Given the description of an element on the screen output the (x, y) to click on. 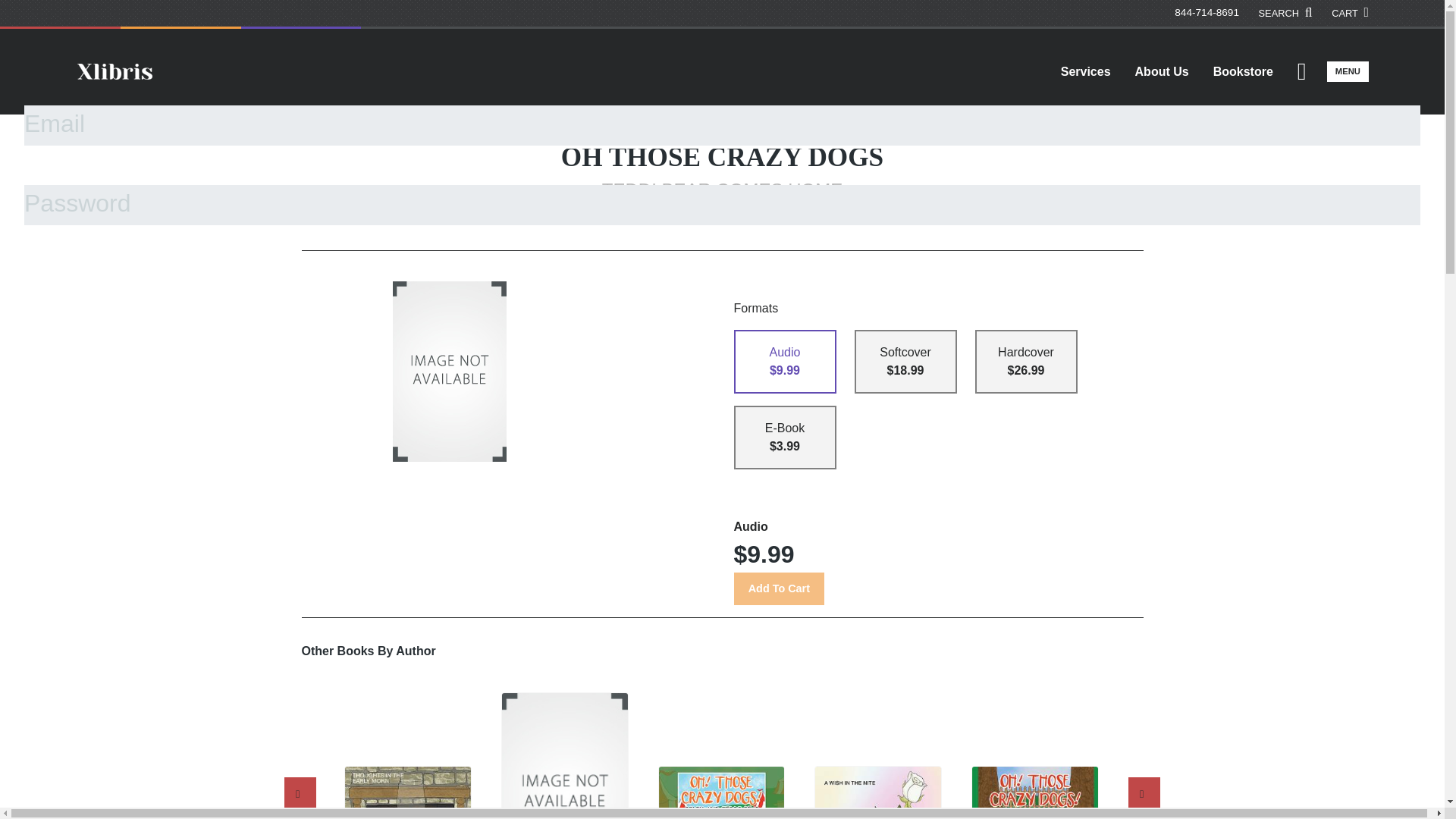
Add To Cart (778, 588)
About Us (1161, 70)
MENU (1347, 70)
Oh! Those Crazy Dogs ! (722, 792)
Services (1085, 70)
844-714-8691 (1206, 12)
SEARCH (1286, 12)
A Wish In The Nite (877, 792)
User Menu (1301, 71)
Oh Those Crazy Dogs! (564, 755)
OH! THOSE CRAZY DOGS! (1035, 792)
CART (1350, 12)
Bookstore (1243, 70)
Thoughts in the Early Morn (407, 792)
